Given the description of an element on the screen output the (x, y) to click on. 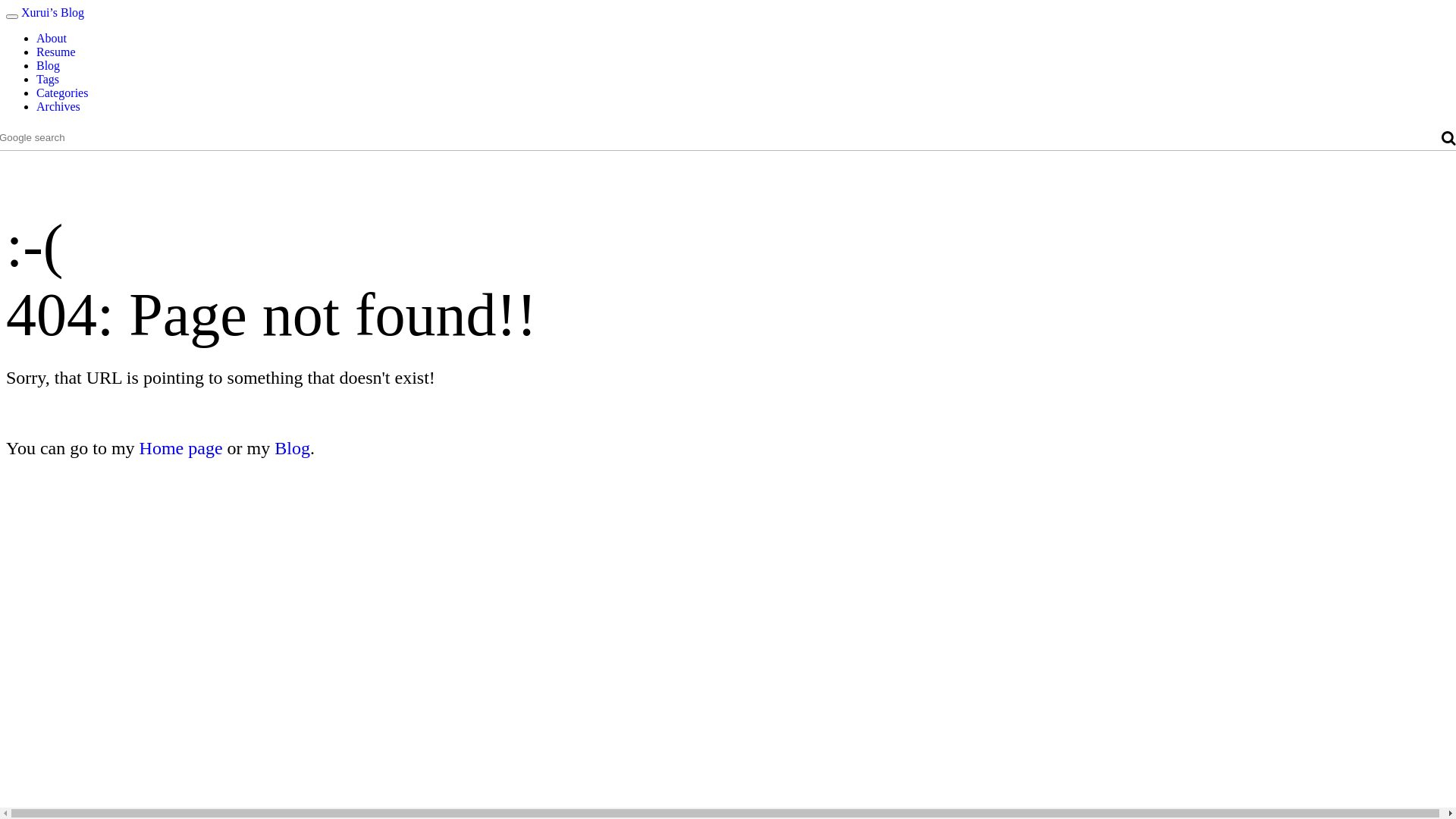
Blog Element type: text (292, 448)
Blog Element type: text (47, 65)
About Element type: text (51, 37)
Home page Element type: text (180, 448)
Tags Element type: text (47, 78)
Archives Element type: text (58, 106)
Categories Element type: text (61, 92)
Resume Element type: text (55, 51)
